Given the description of an element on the screen output the (x, y) to click on. 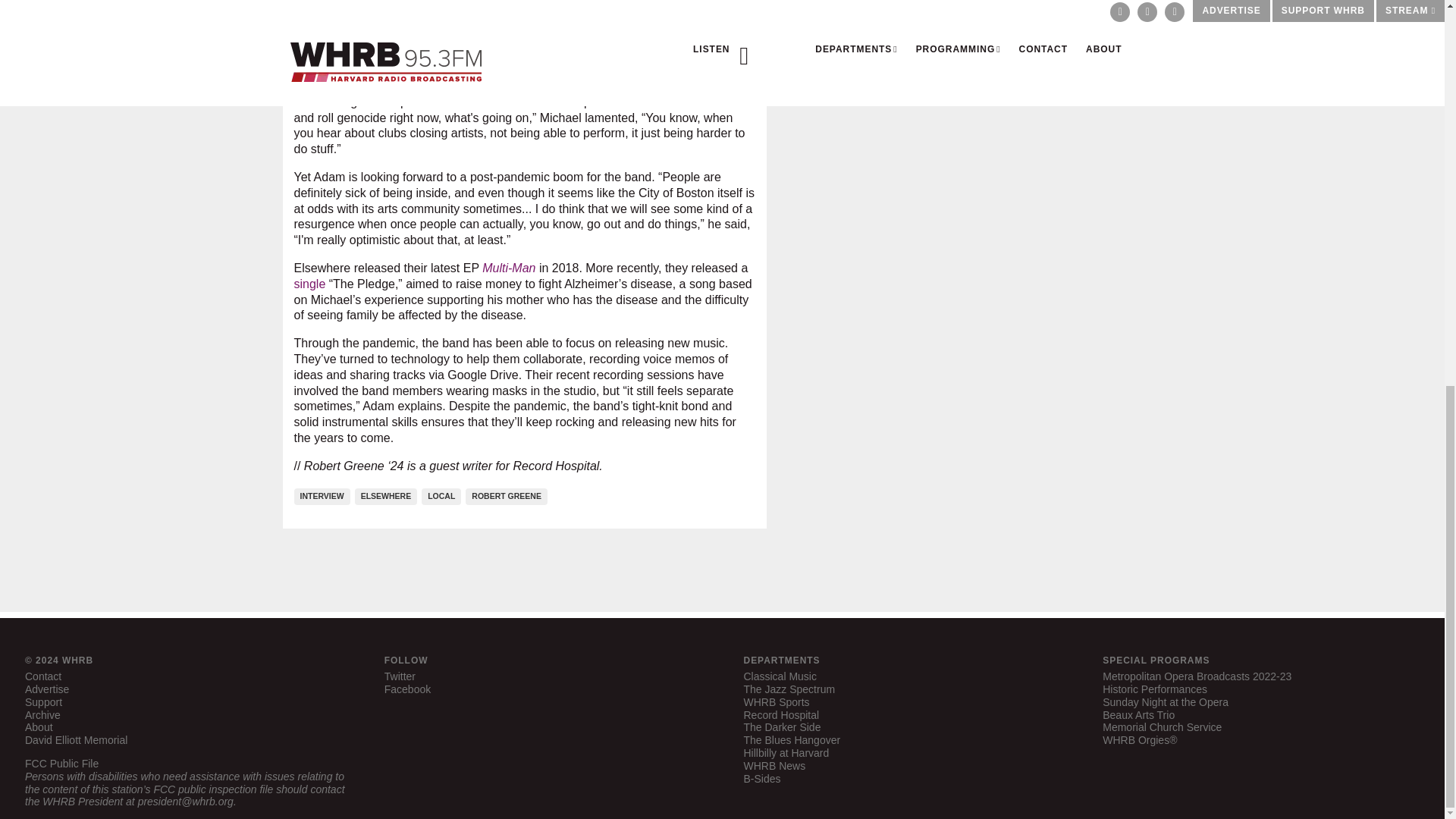
INTERVIEW (324, 494)
ELSEWHERE (388, 494)
single (310, 283)
Multi-Man (508, 267)
LOCAL (443, 494)
